Given the description of an element on the screen output the (x, y) to click on. 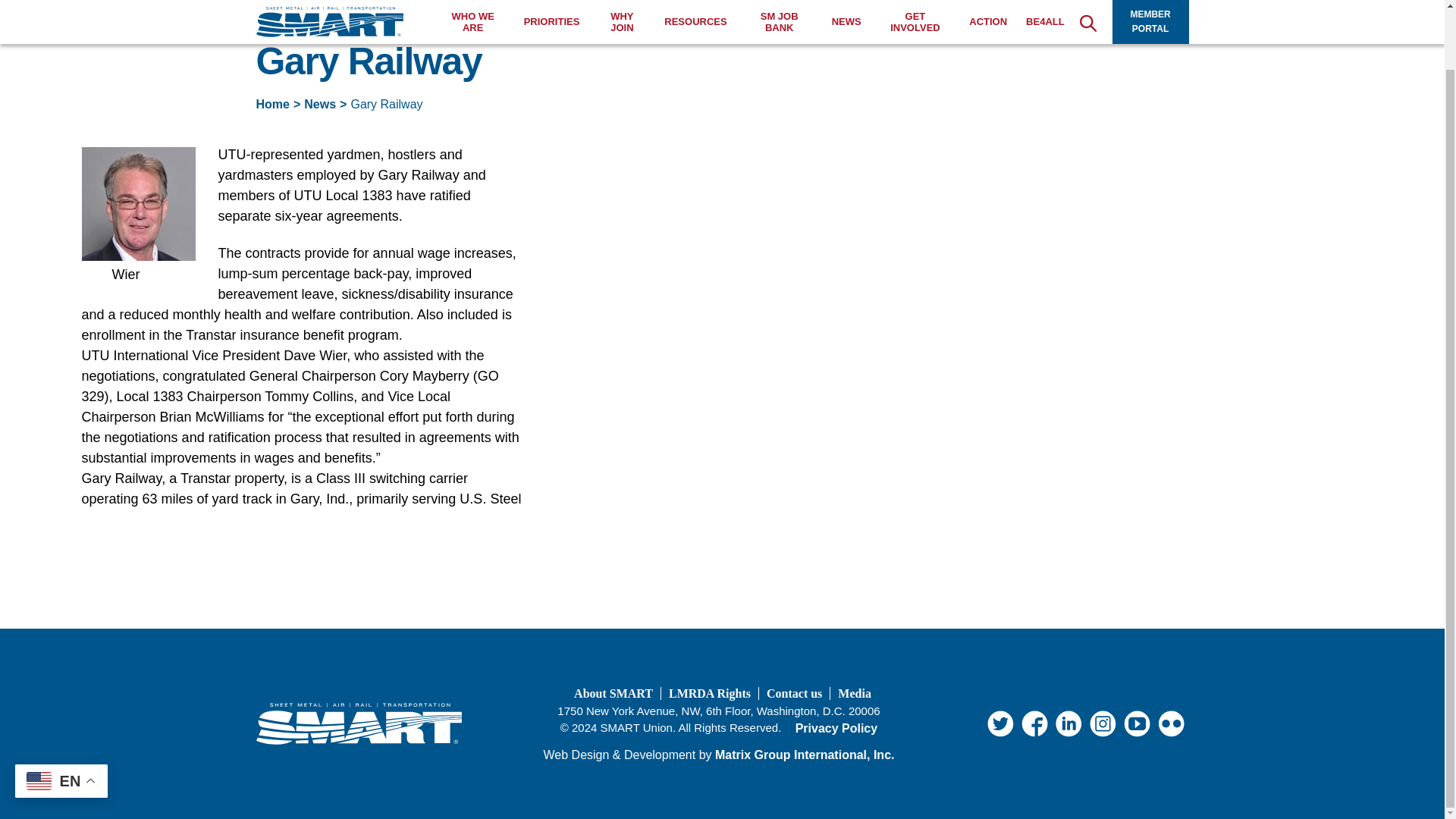
Go to News. (320, 103)
Go to SMART Union. (272, 103)
Wier, David.2011 (138, 204)
